Given the description of an element on the screen output the (x, y) to click on. 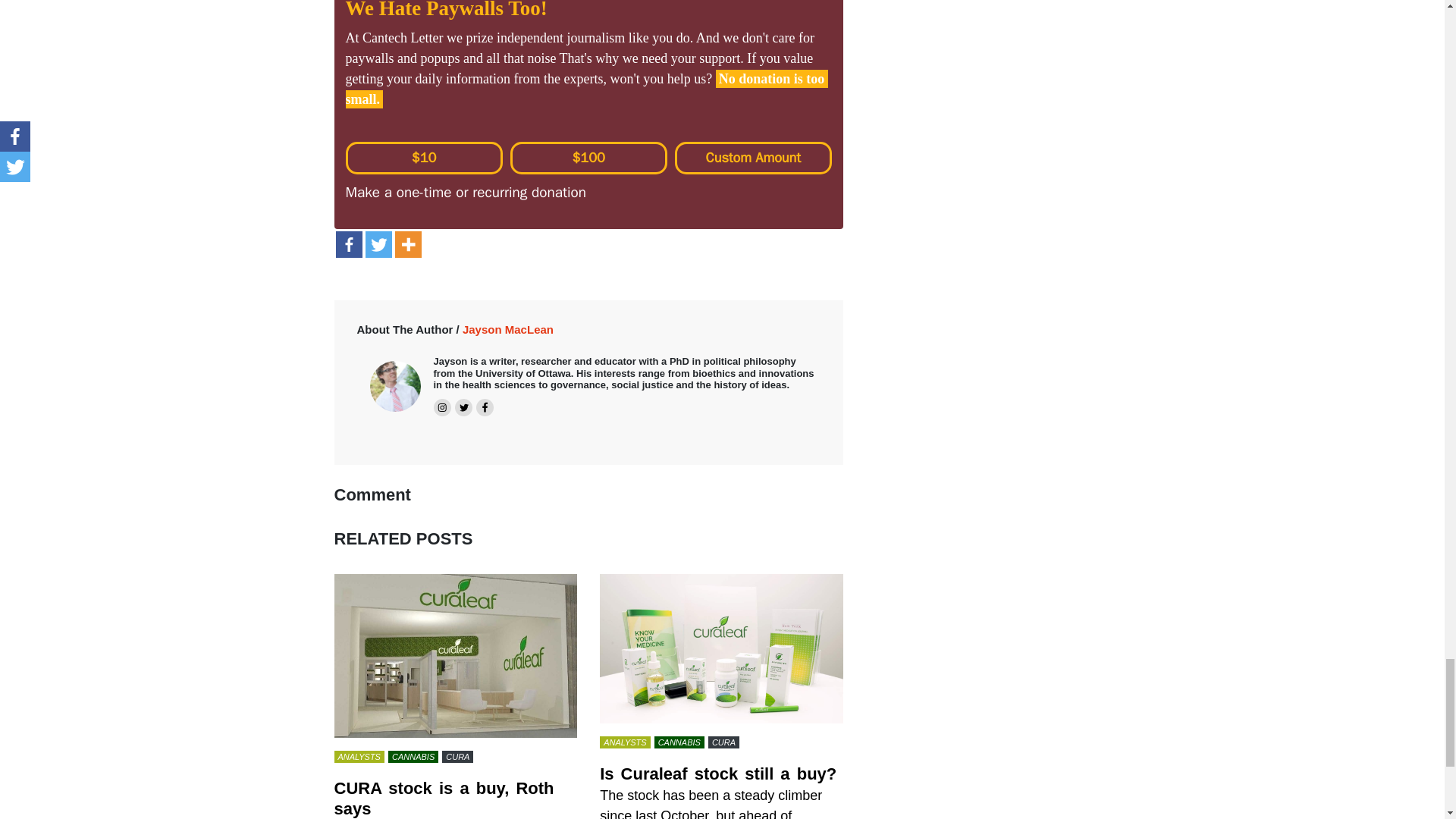
Twitter (378, 243)
Facebook (347, 243)
More (407, 243)
